Given the description of an element on the screen output the (x, y) to click on. 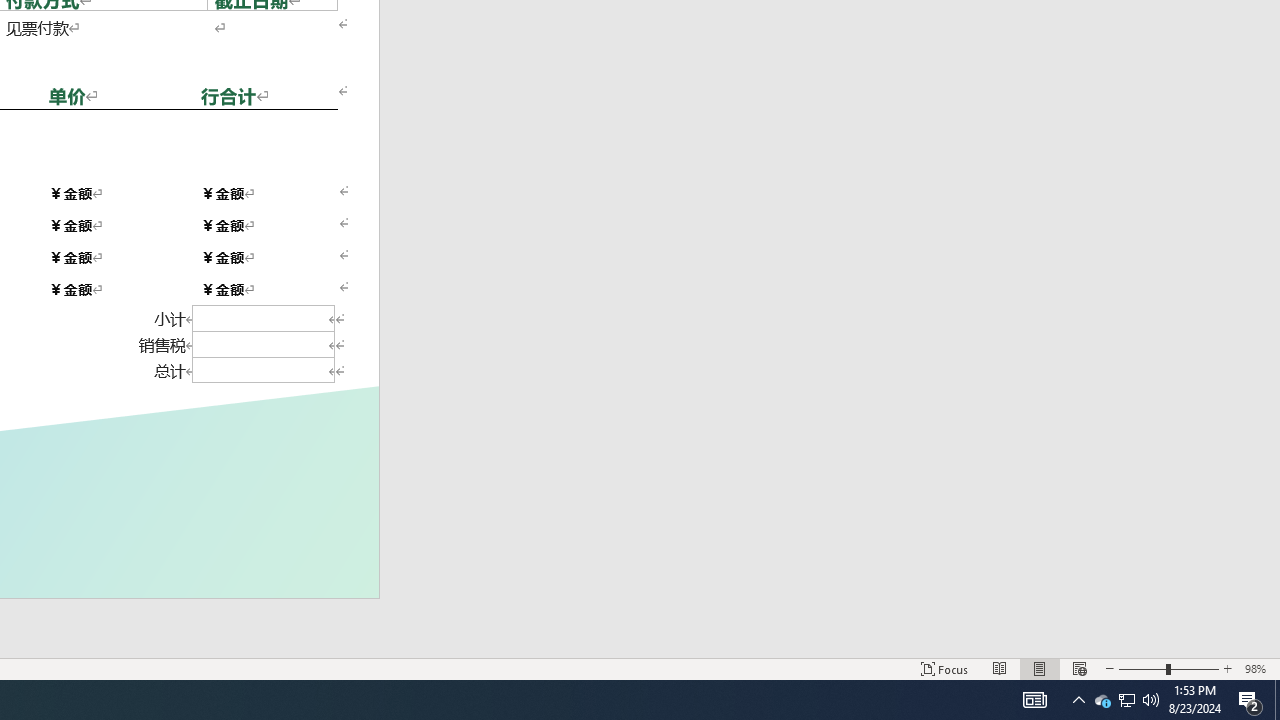
Read Mode (1000, 668)
Zoom (1168, 668)
Zoom Out (1142, 668)
Print Layout (1039, 668)
Web Layout (1079, 668)
Zoom In (1227, 668)
Focus  (944, 668)
Zoom 98% (1258, 668)
